Given the description of an element on the screen output the (x, y) to click on. 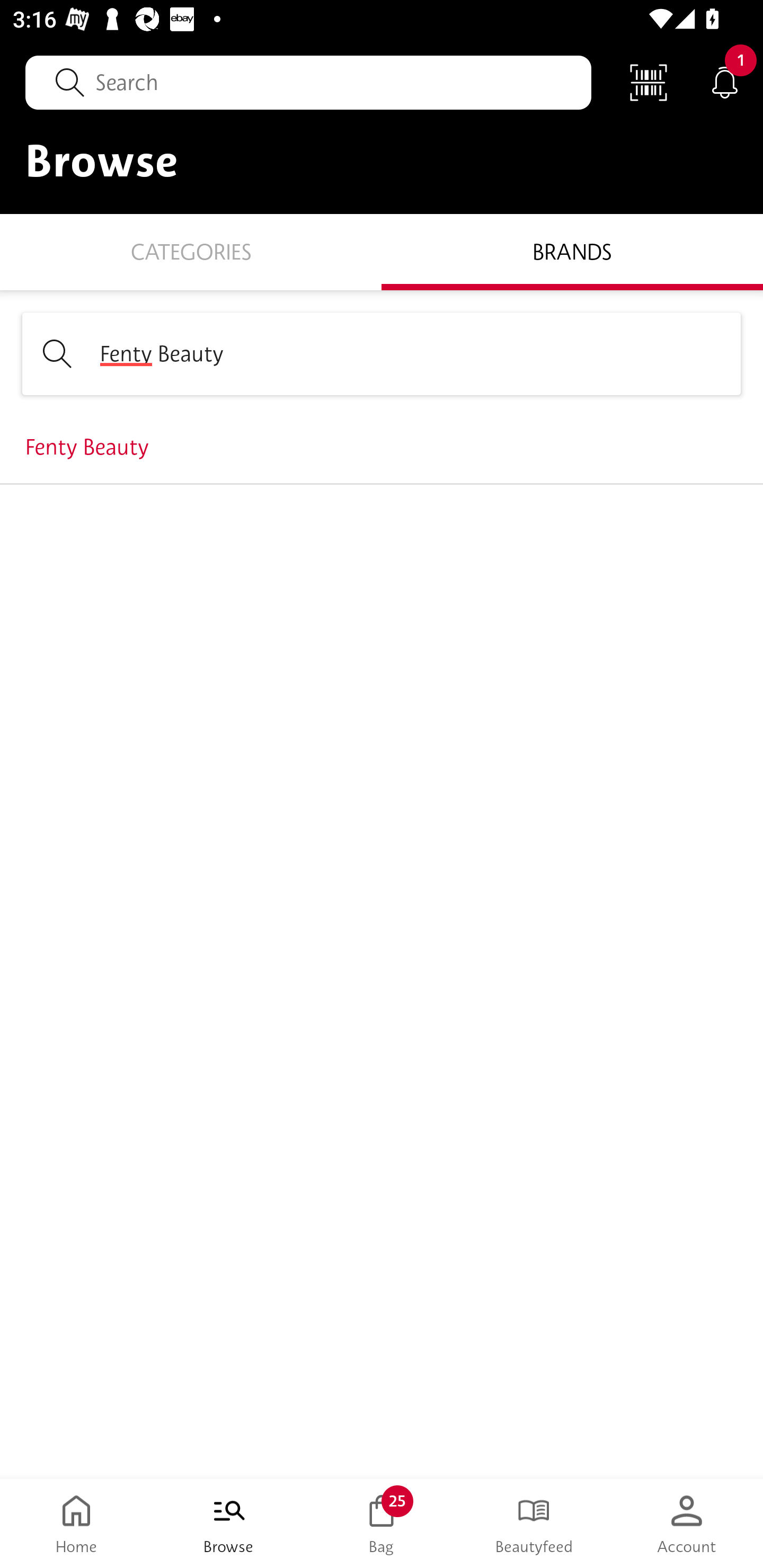
Scan Code (648, 81)
Notifications (724, 81)
Search (308, 81)
Categories CATEGORIES (190, 251)
Fenty Beauty (381, 353)
Fenty Beauty (381, 446)
Home (76, 1523)
Bag 25 Bag (381, 1523)
Beautyfeed (533, 1523)
Account (686, 1523)
